Given the description of an element on the screen output the (x, y) to click on. 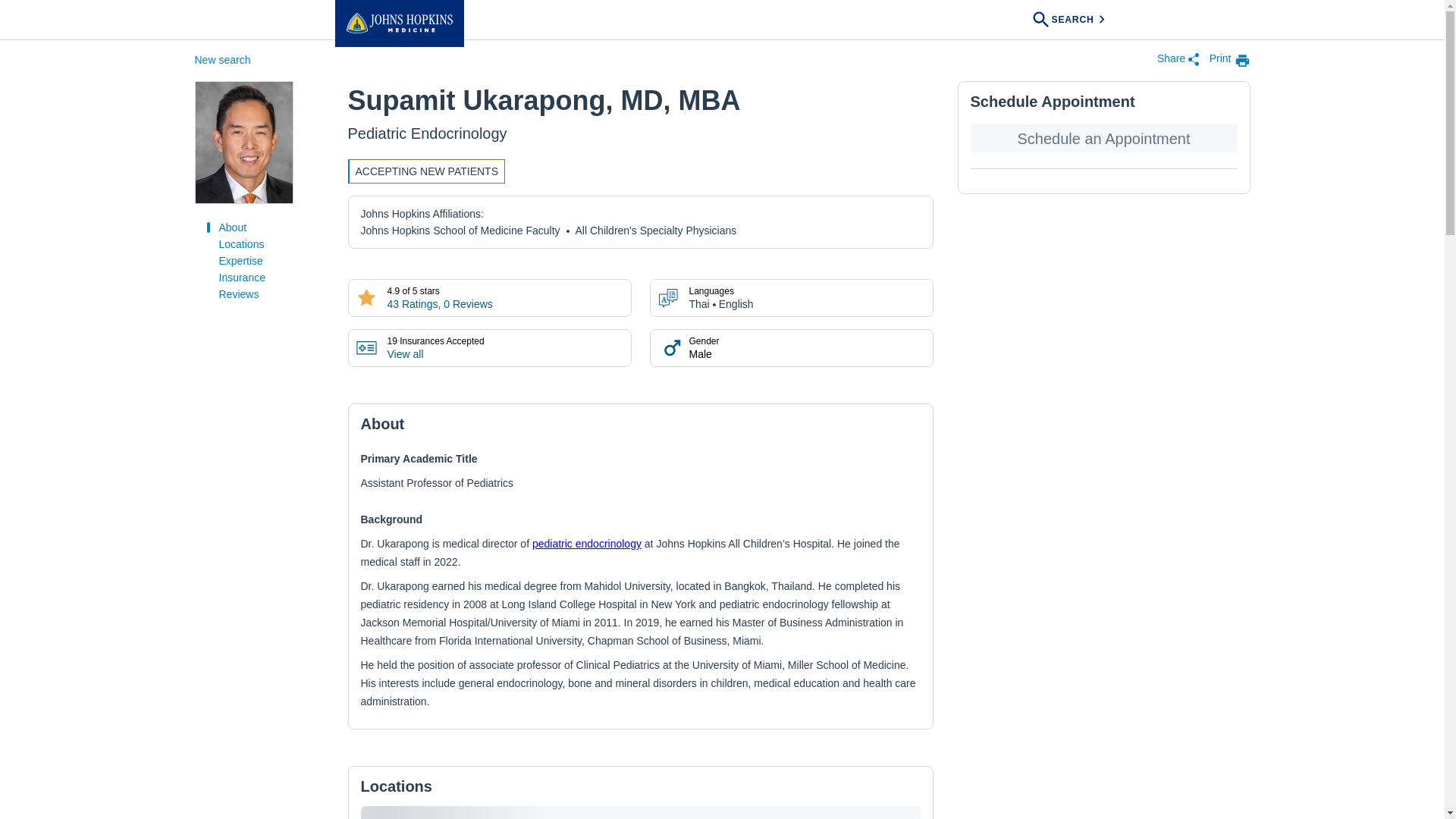
About (232, 226)
Schedule an Appointment (1104, 138)
Expertise (240, 260)
Share (1178, 60)
Insurance (241, 276)
New search (221, 59)
Reviews (238, 294)
View all (405, 353)
SEARCH (1069, 19)
Print (1229, 59)
pediatric endocrinology (587, 543)
Locations (240, 244)
43 Ratings, 0 Reviews (439, 303)
